Given the description of an element on the screen output the (x, y) to click on. 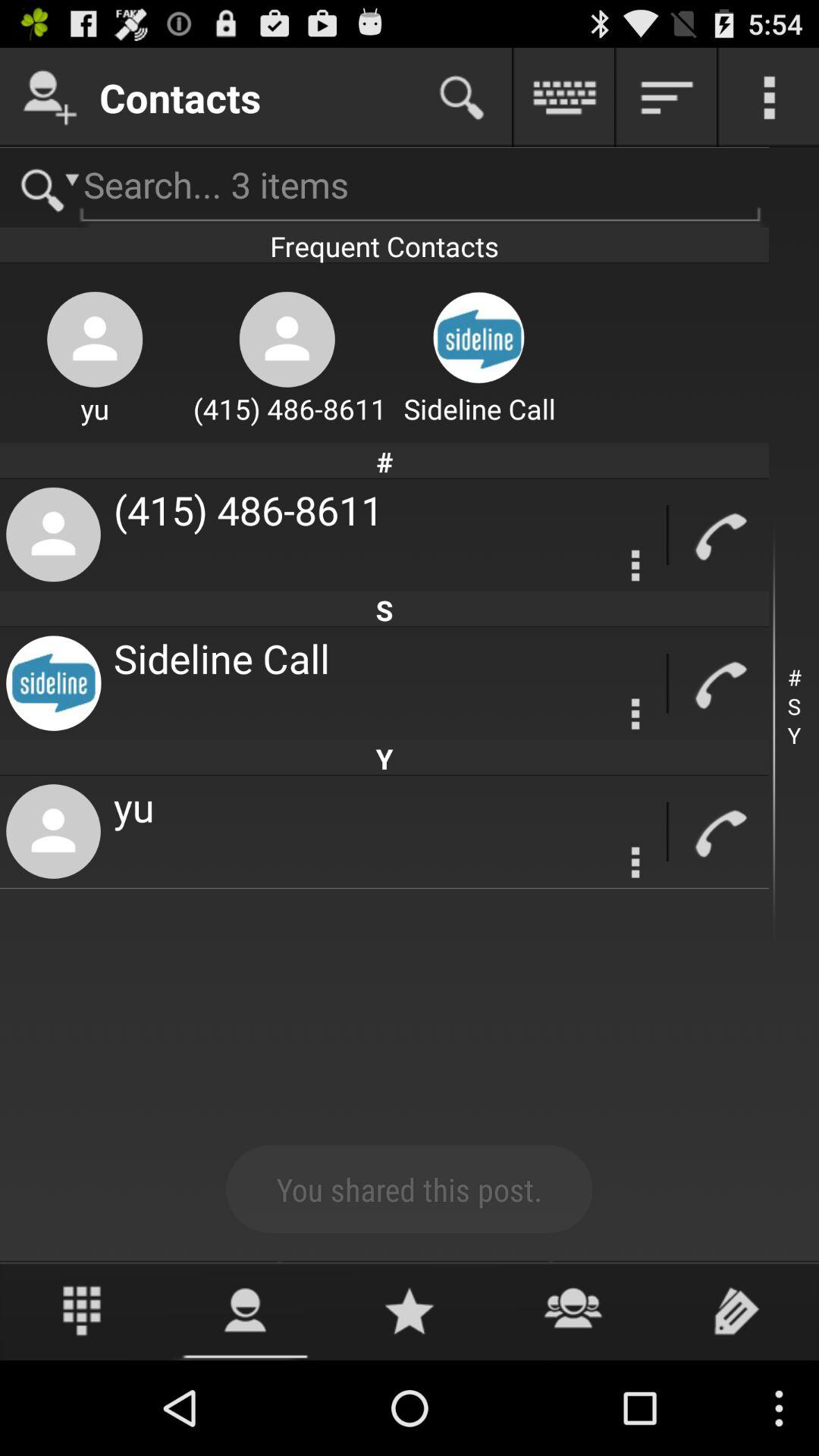
more options (635, 714)
